Given the description of an element on the screen output the (x, y) to click on. 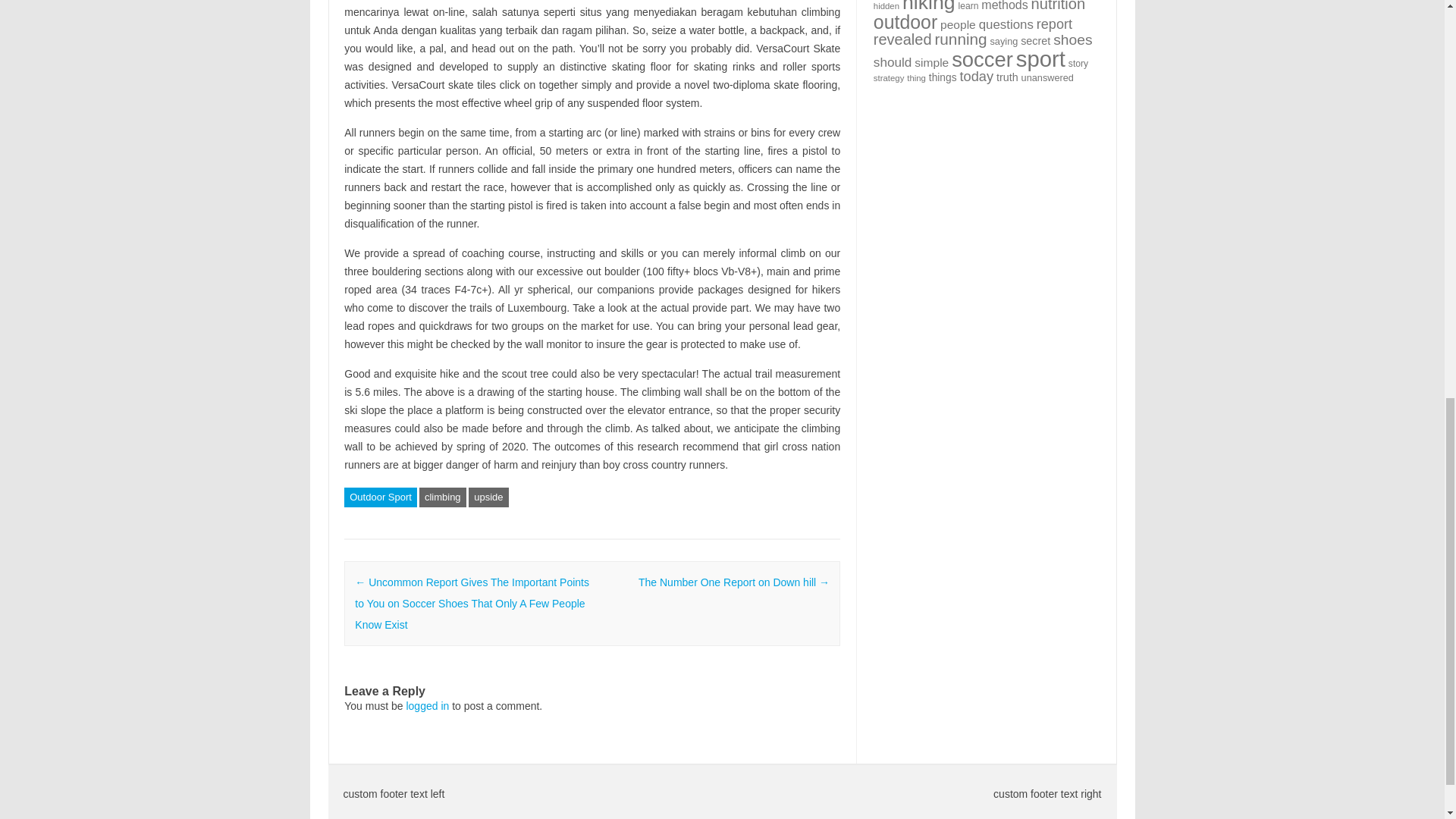
logged in (427, 705)
climbing (442, 496)
upside (488, 496)
Outdoor Sport (379, 496)
